Given the description of an element on the screen output the (x, y) to click on. 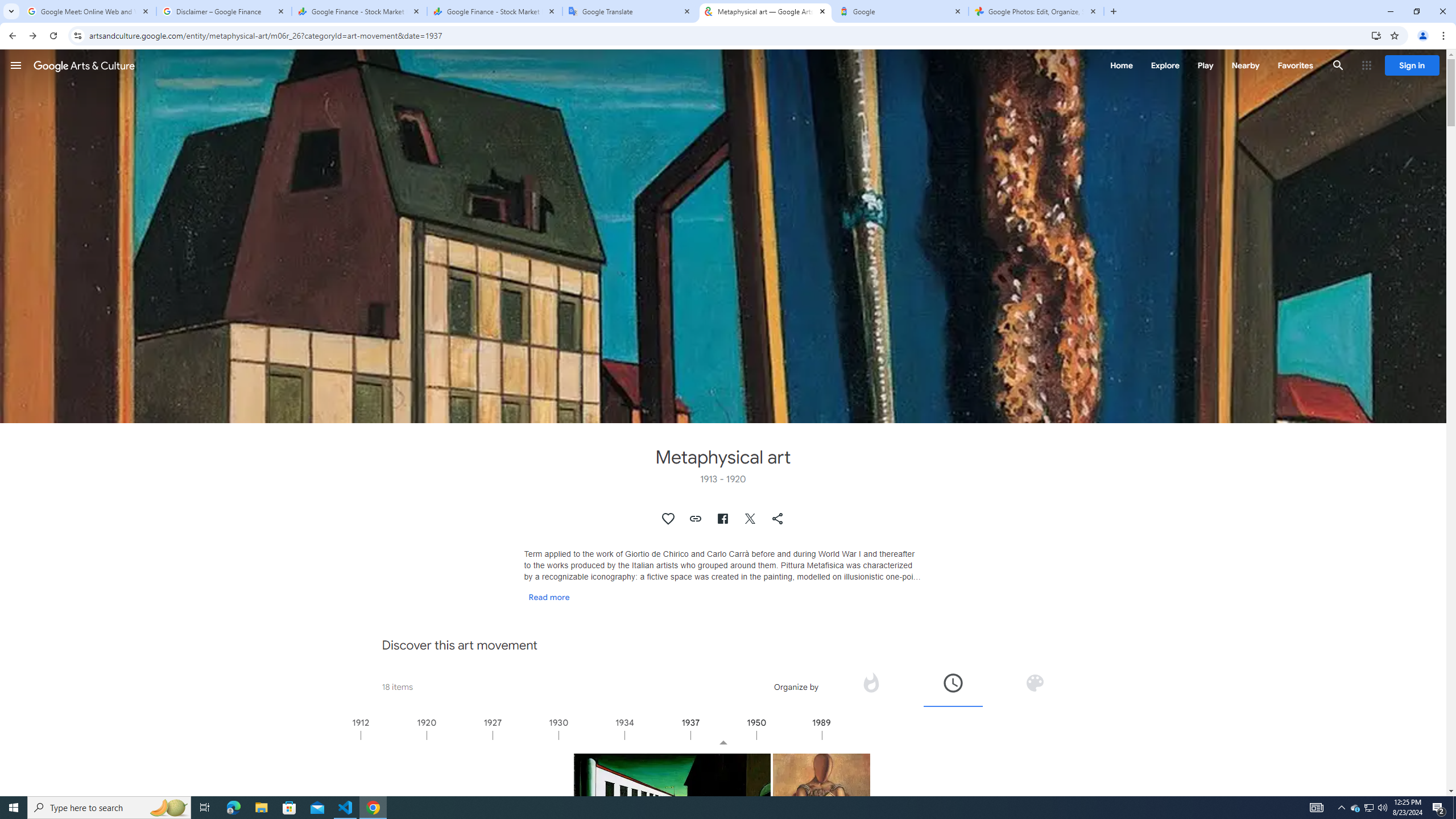
Share on Twitter (750, 518)
1912 (392, 734)
Google Translate (630, 11)
Home (1120, 65)
Organize by time (951, 682)
1934 (657, 734)
Play (1205, 65)
Google (901, 11)
Copy Link (695, 518)
